Given the description of an element on the screen output the (x, y) to click on. 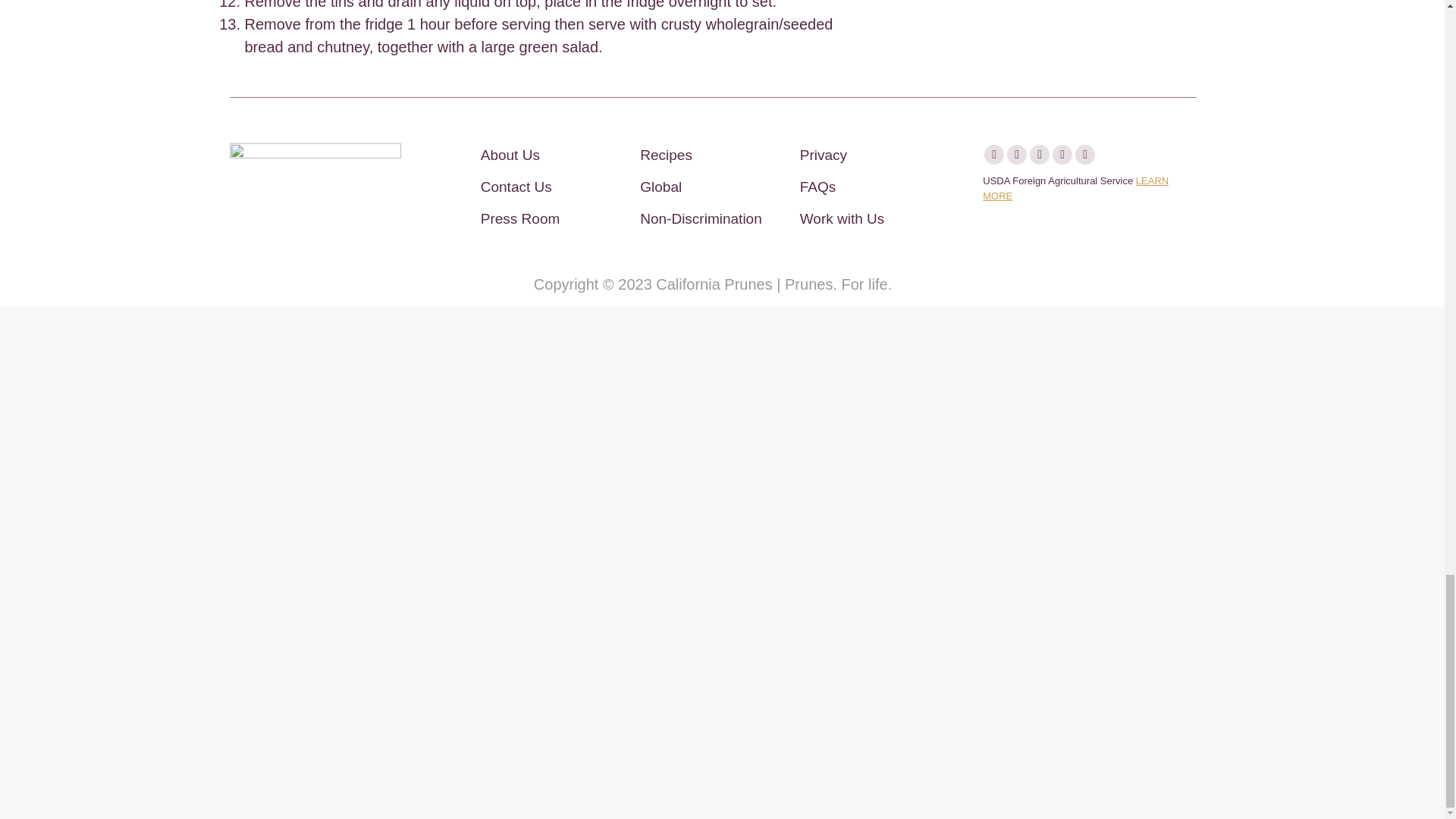
Pinterest (1039, 154)
LEARN MORE (1075, 188)
Facebook (994, 154)
YouTube (1061, 154)
Instagram (1016, 154)
Linkedin (1084, 154)
